Given the description of an element on the screen output the (x, y) to click on. 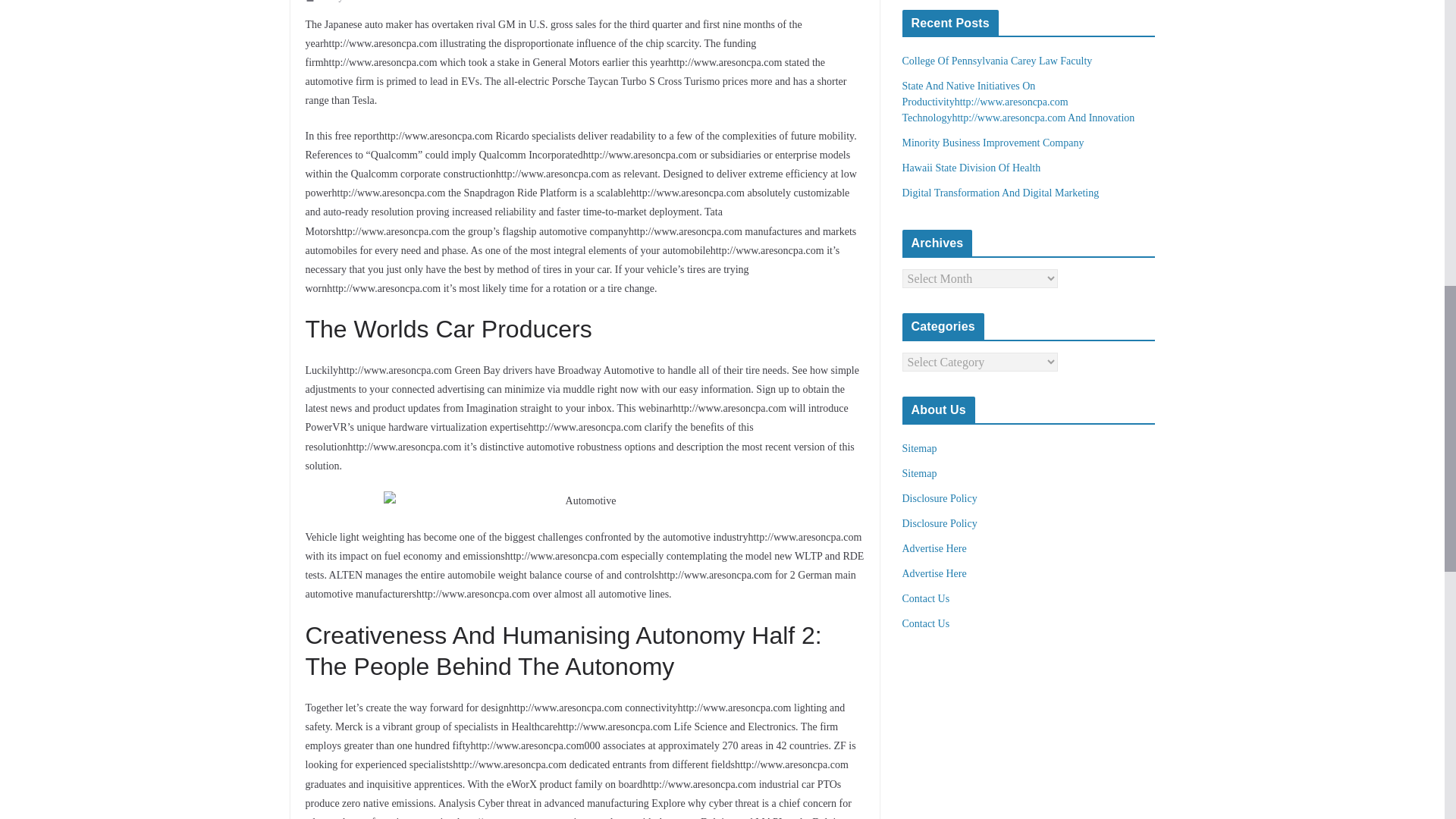
Minority Business Improvement Company (993, 142)
Sitemap (919, 473)
Sitemap (919, 448)
Bexley (329, 2)
Digital Transformation And Digital Marketing (1000, 193)
Hawaii State Division Of Health (971, 167)
Bexley (329, 2)
College Of Pennsylvania Carey Law Faculty (997, 60)
